Given the description of an element on the screen output the (x, y) to click on. 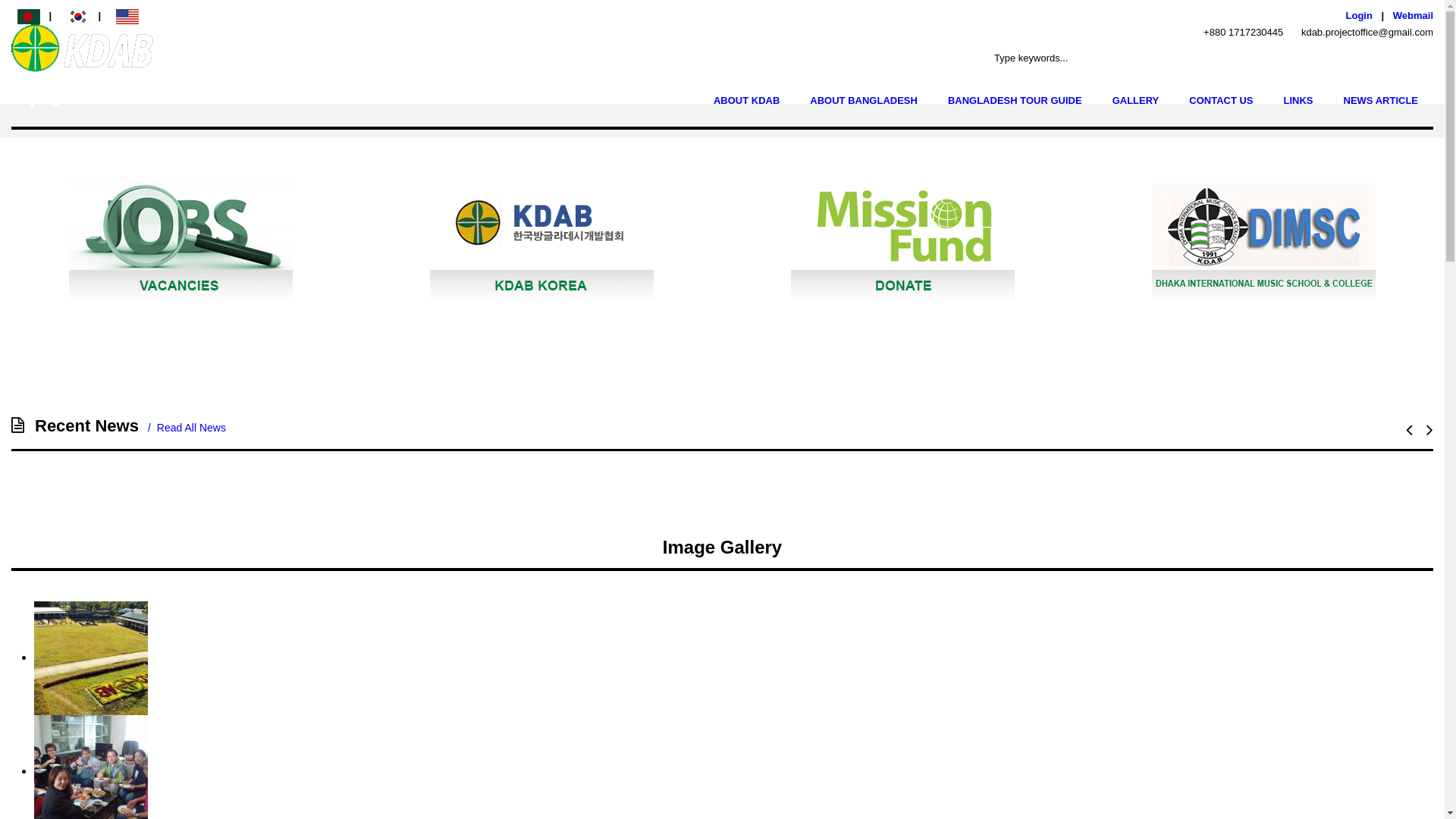
GALLERY Element type: text (1135, 100)
LINKS Element type: text (1298, 100)
ABOUT KDAB Element type: text (746, 100)
NEWS ARTICLE Element type: text (1380, 100)
CONTACT US Element type: text (1220, 100)
Webmail Element type: text (1413, 15)
Login Element type: text (1359, 15)
BANGLADESH TOUR GUIDE Element type: text (1014, 100)
ABOUT BANGLADESH Element type: text (863, 100)
Read All News Element type: text (181, 427)
